Given the description of an element on the screen output the (x, y) to click on. 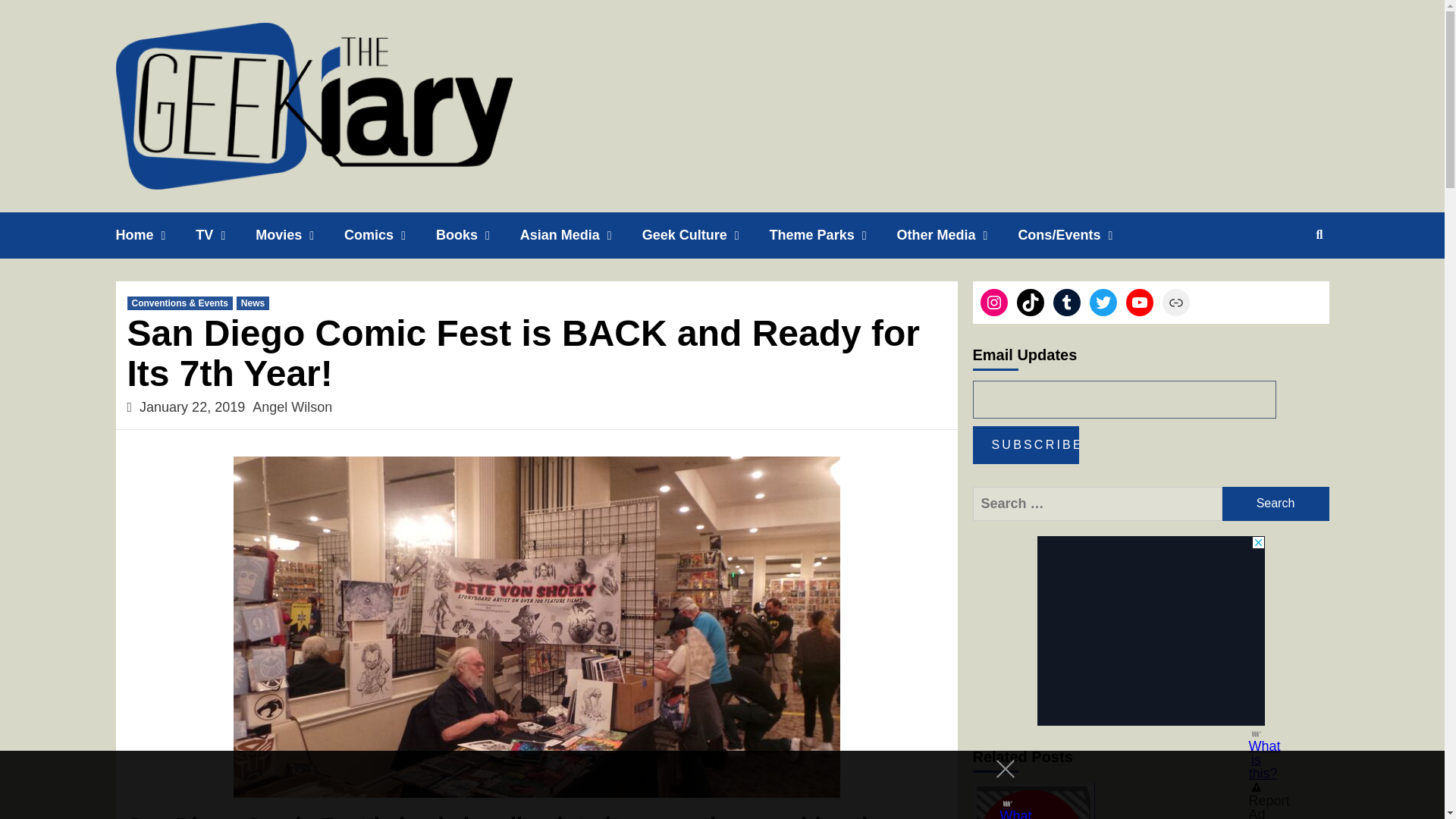
Comics (389, 235)
Movies (299, 235)
Asian Media (580, 235)
Books (477, 235)
Search (1276, 503)
TV (225, 235)
Search (1276, 503)
Home (155, 235)
3rd party ad content (1150, 630)
Subscribe (1025, 444)
Geek Culture (706, 235)
3rd party ad content (708, 785)
